Given the description of an element on the screen output the (x, y) to click on. 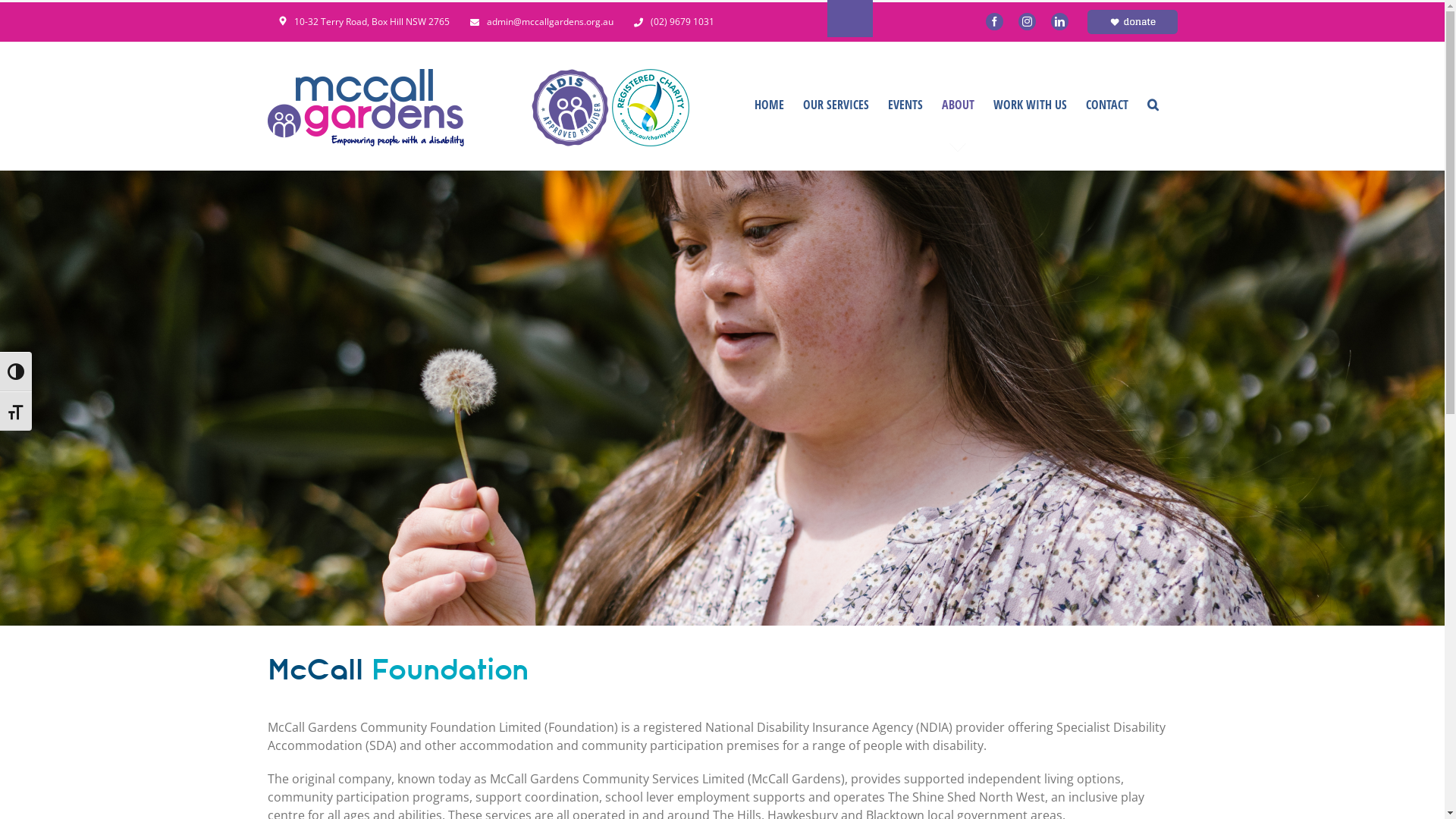
ABOUT Element type: text (957, 104)
Facebook Element type: text (994, 21)
EVENTS Element type: text (904, 104)
Toggle Font size Element type: text (15, 410)
Instagram Element type: text (1026, 21)
CONTACT Element type: text (1106, 104)
Toggle High Contrast Element type: text (15, 371)
Search Element type: hover (1151, 104)
admin@mccallgardens.org.au Element type: text (535, 21)
LinkedIn Element type: text (1059, 21)
HOME Element type: text (768, 104)
WORK WITH US Element type: text (1029, 104)
OUR SERVICES Element type: text (835, 104)
